Given the description of an element on the screen output the (x, y) to click on. 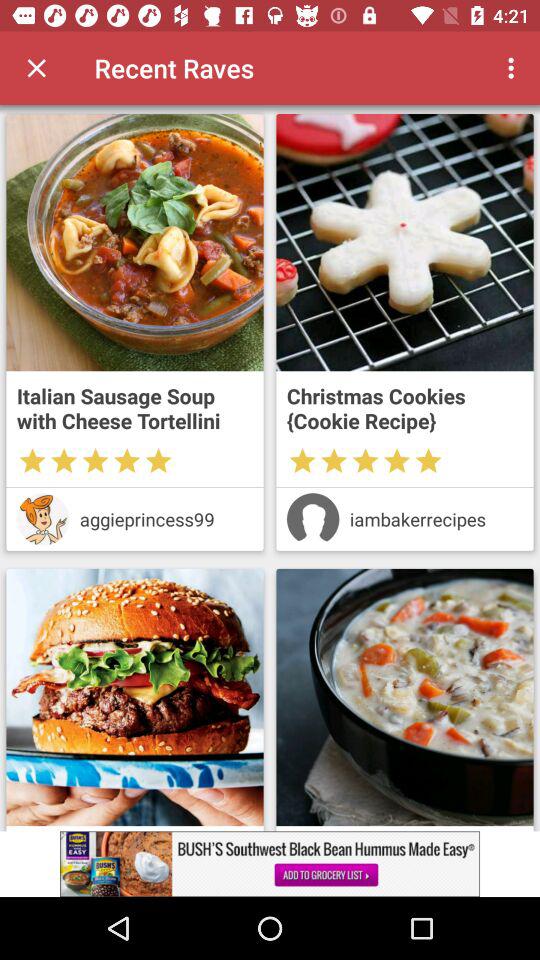
view profile (312, 519)
